Given the description of an element on the screen output the (x, y) to click on. 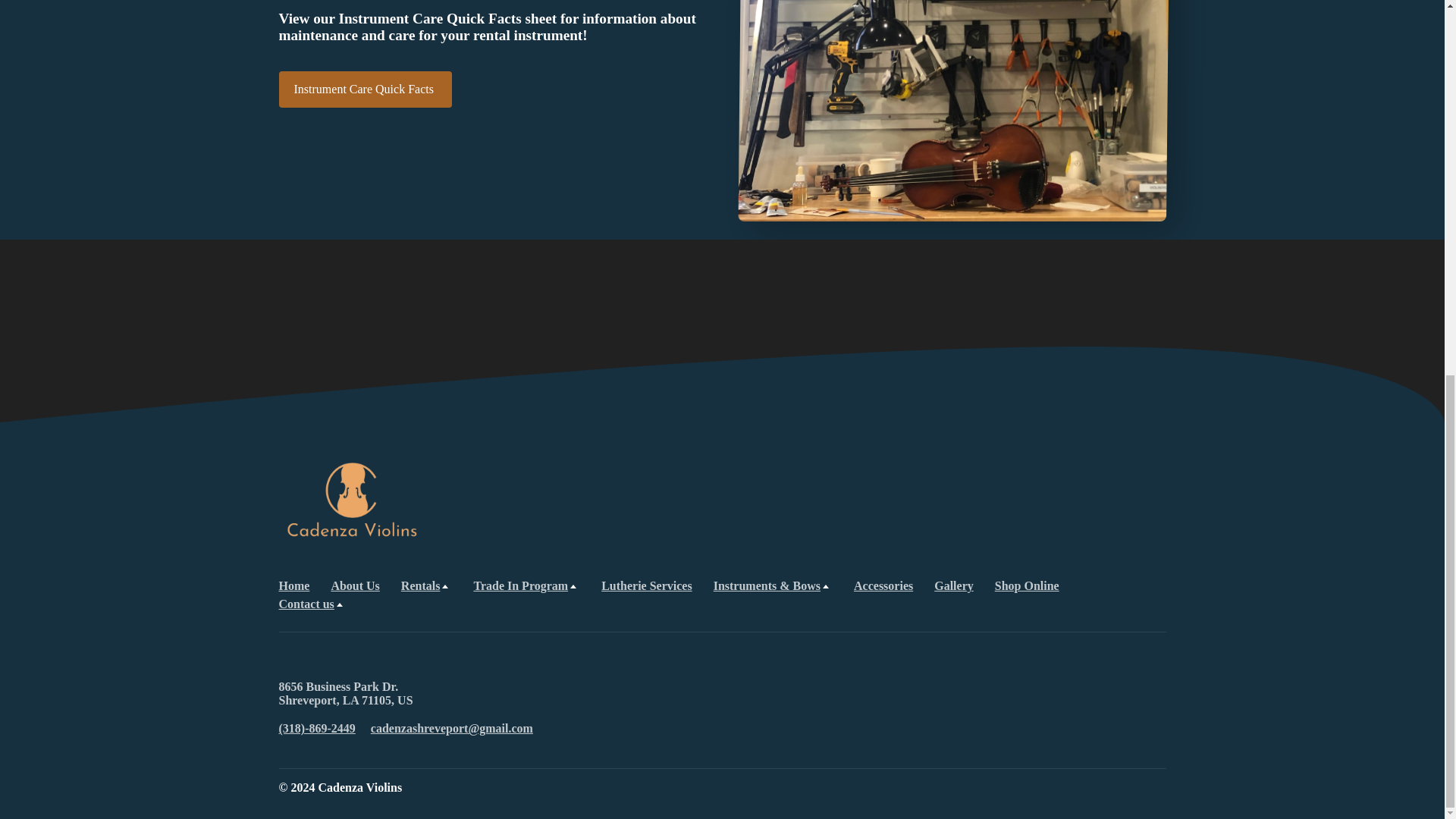
About Us (354, 585)
Home (294, 585)
Rentals (426, 585)
Instrument Care Quick Facts  (365, 89)
